Given the description of an element on the screen output the (x, y) to click on. 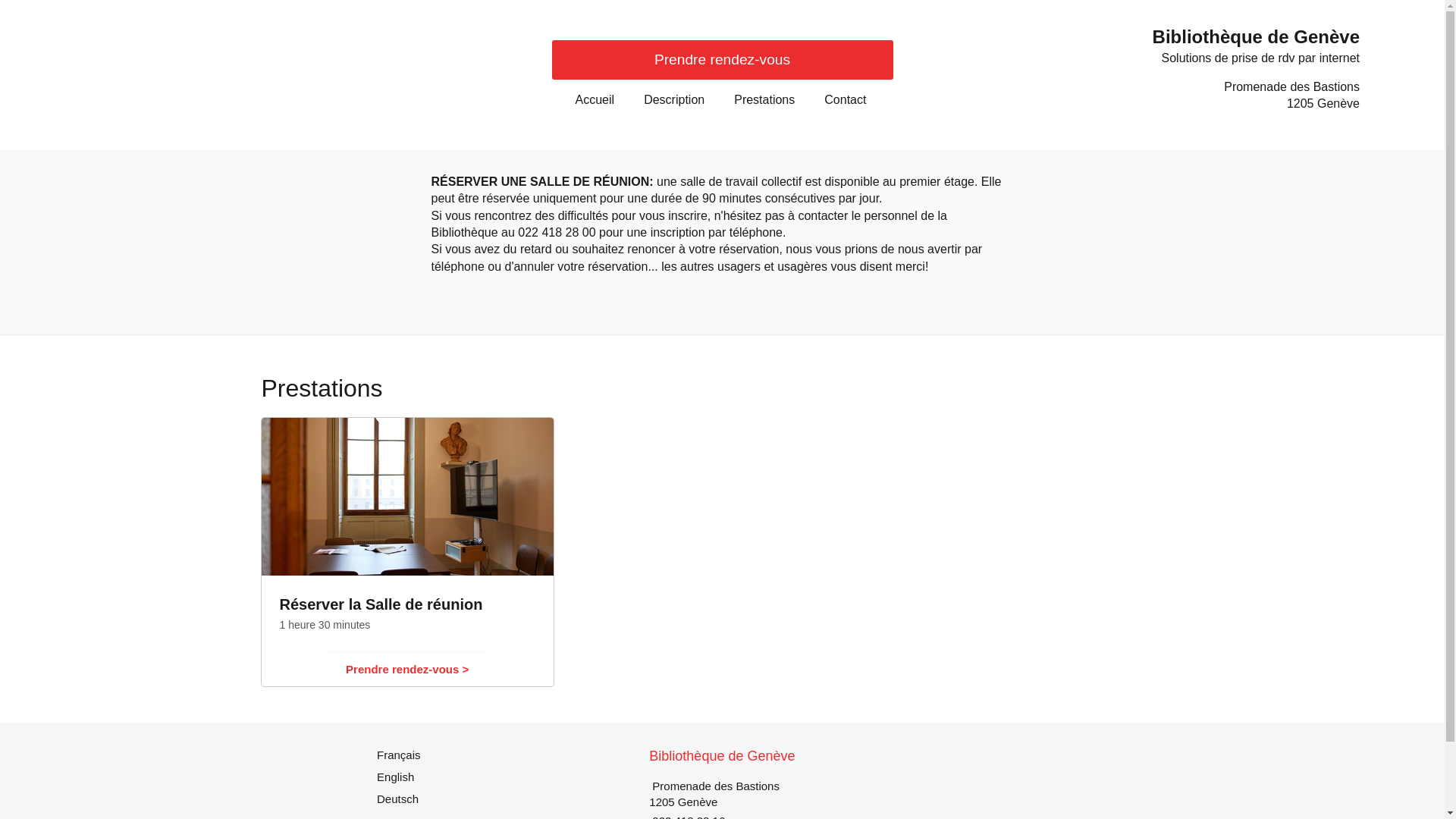
Description Element type: text (673, 99)
Accueil Element type: text (595, 99)
English Element type: text (395, 776)
Deutsch Element type: text (397, 798)
Prestations Element type: text (764, 99)
Contact Element type: text (845, 99)
Prendre rendez-vous Element type: text (722, 59)
